Given the description of an element on the screen output the (x, y) to click on. 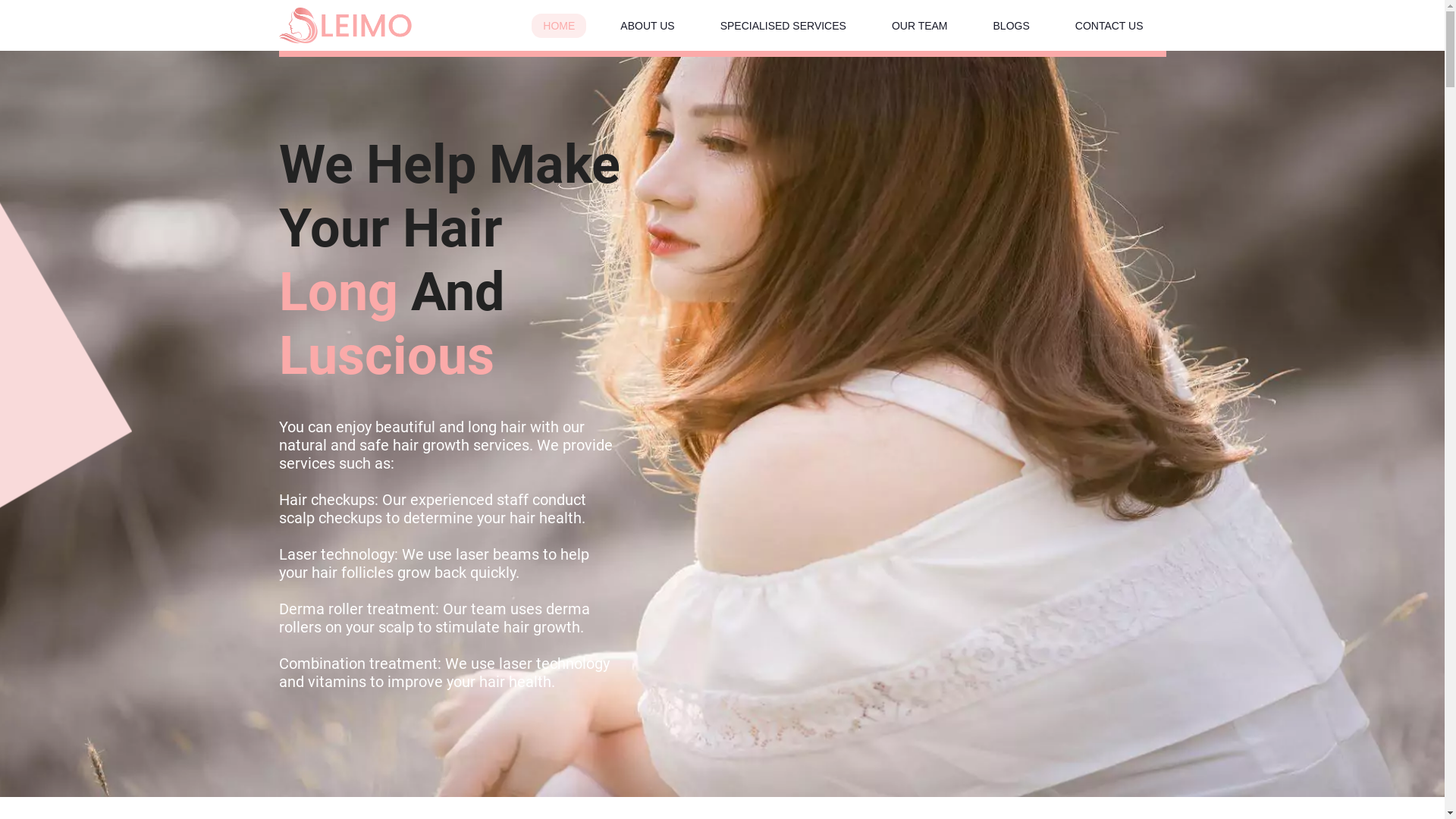
BLOGS Element type: text (1011, 25)
HOME Element type: text (558, 25)
CONTACT US Element type: text (1108, 25)
SPECIALISED SERVICES Element type: text (783, 25)
logo Element type: hover (345, 25)
ABOUT US Element type: text (646, 25)
OUR TEAM Element type: text (919, 25)
